Given the description of an element on the screen output the (x, y) to click on. 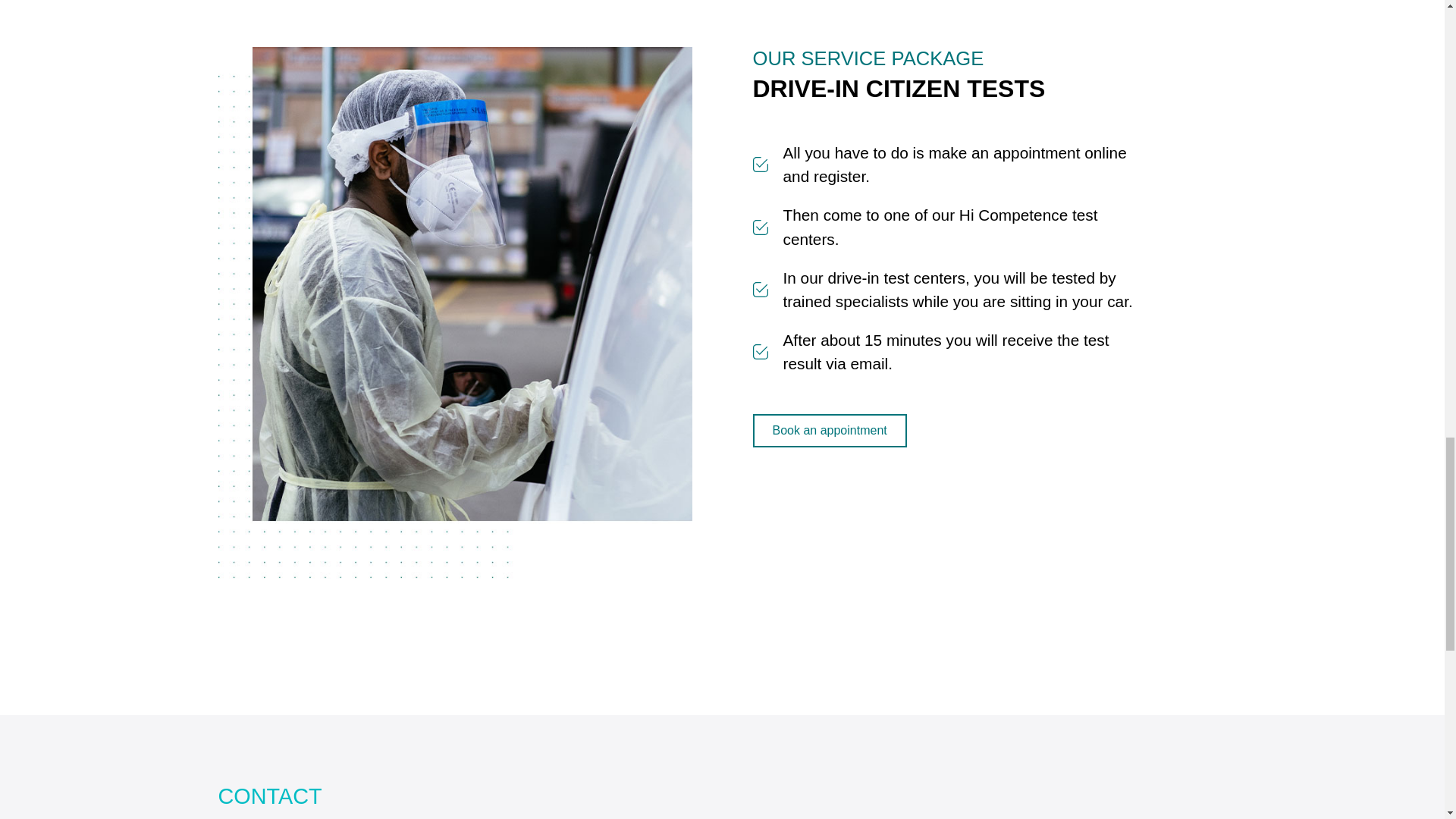
Book an appointment (828, 430)
